Given the description of an element on the screen output the (x, y) to click on. 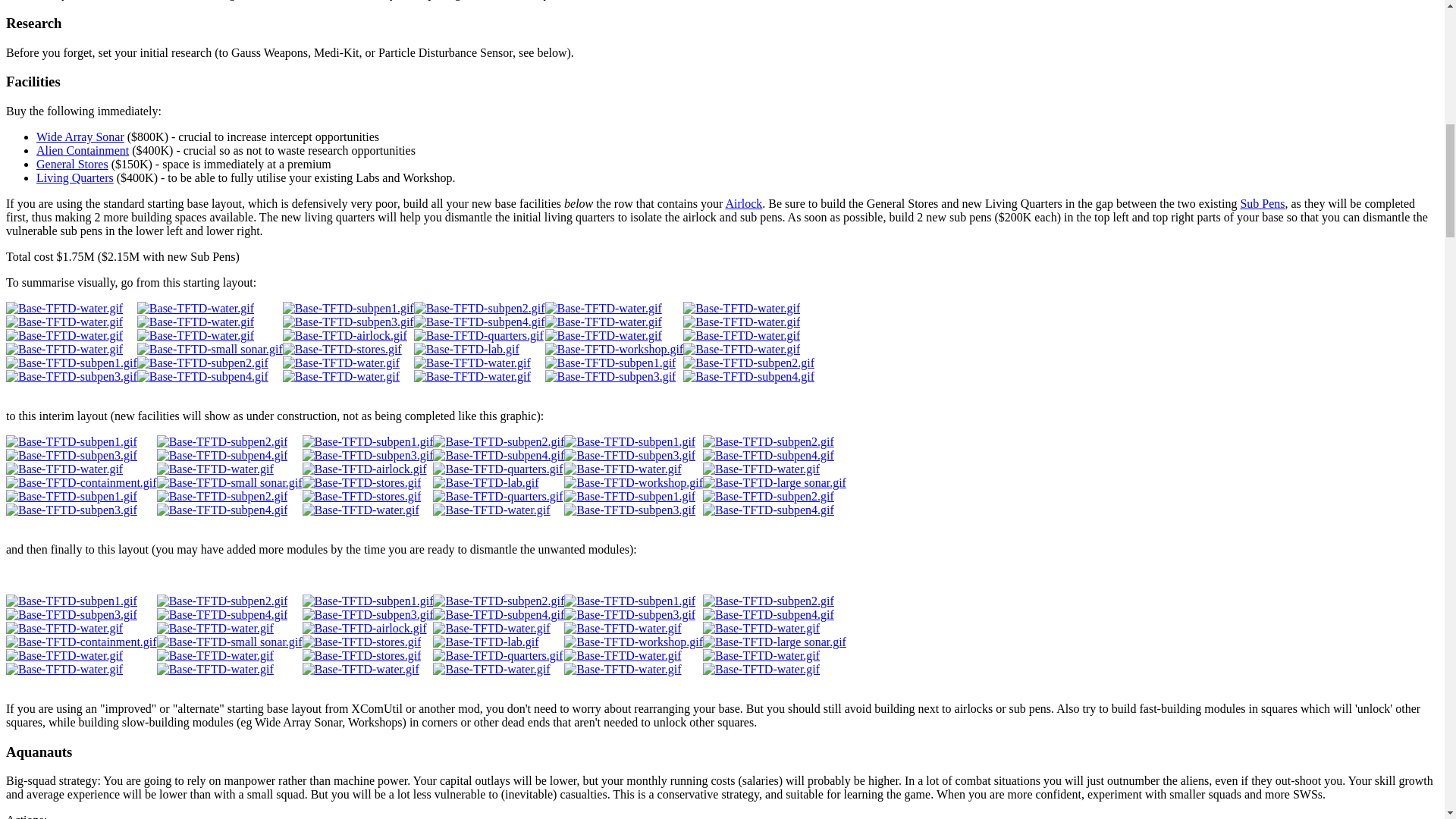
Alien Containment (82, 150)
Wide Array Sonar (79, 136)
Wide Array Sonar (79, 136)
General Stores (71, 164)
Airlock (743, 203)
Sub Pens (1262, 203)
Living Quarters (74, 177)
Sub Pen (1262, 203)
Airlock (743, 203)
Living Quarters (74, 177)
